Given the description of an element on the screen output the (x, y) to click on. 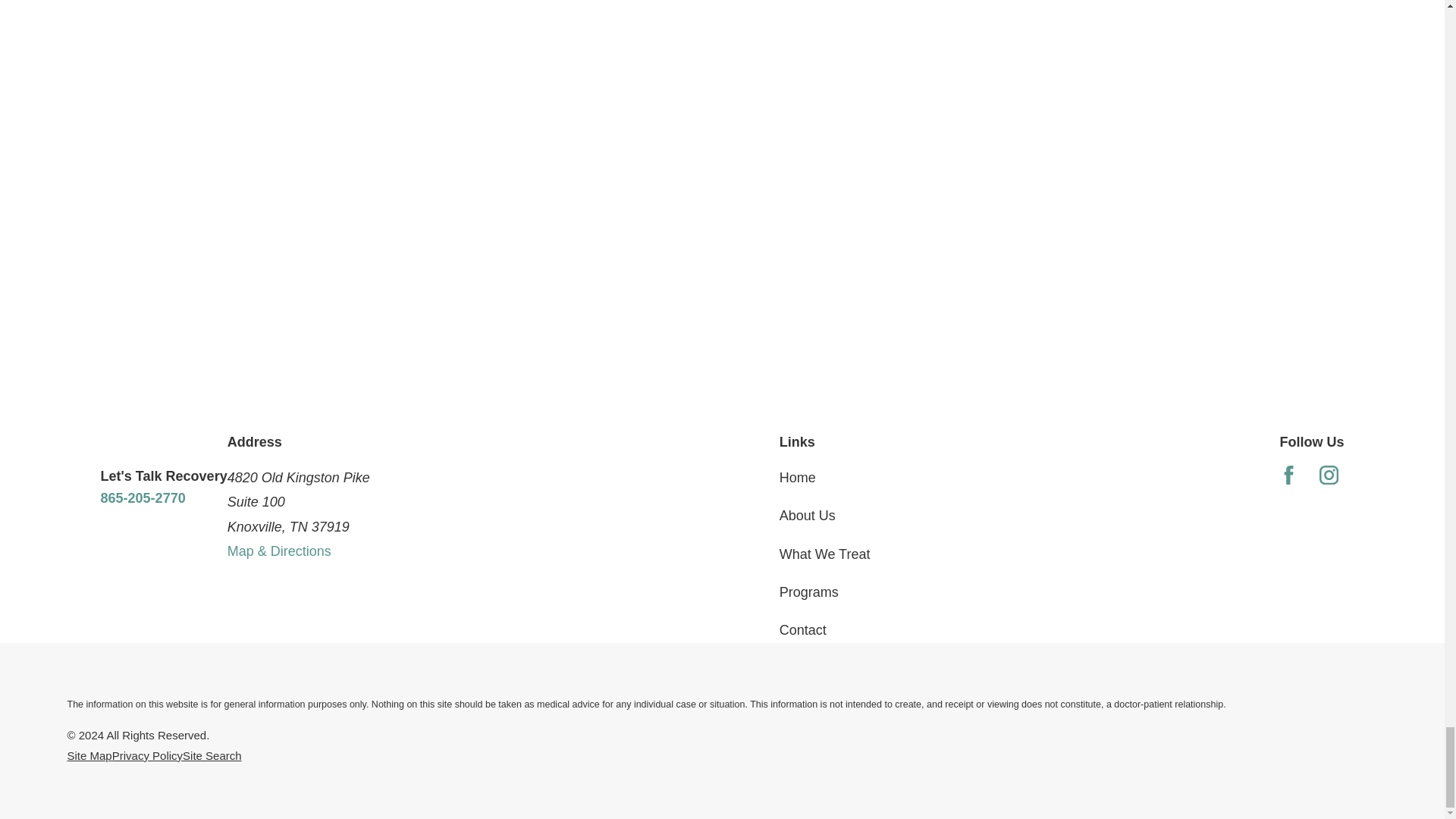
Facebook (1288, 475)
Instagram (1328, 475)
